Given the description of an element on the screen output the (x, y) to click on. 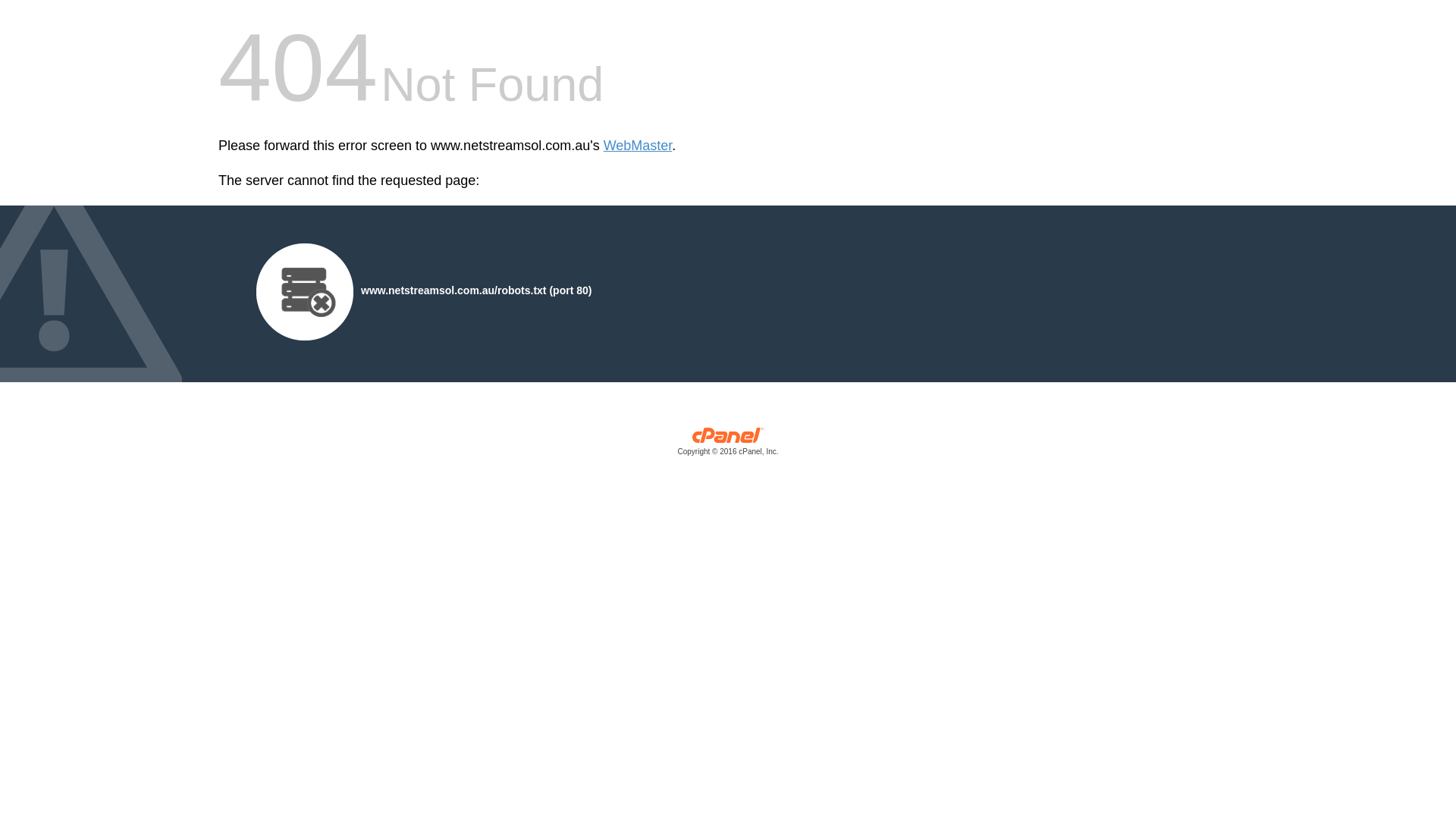
WebMaster Element type: text (637, 145)
